Given the description of an element on the screen output the (x, y) to click on. 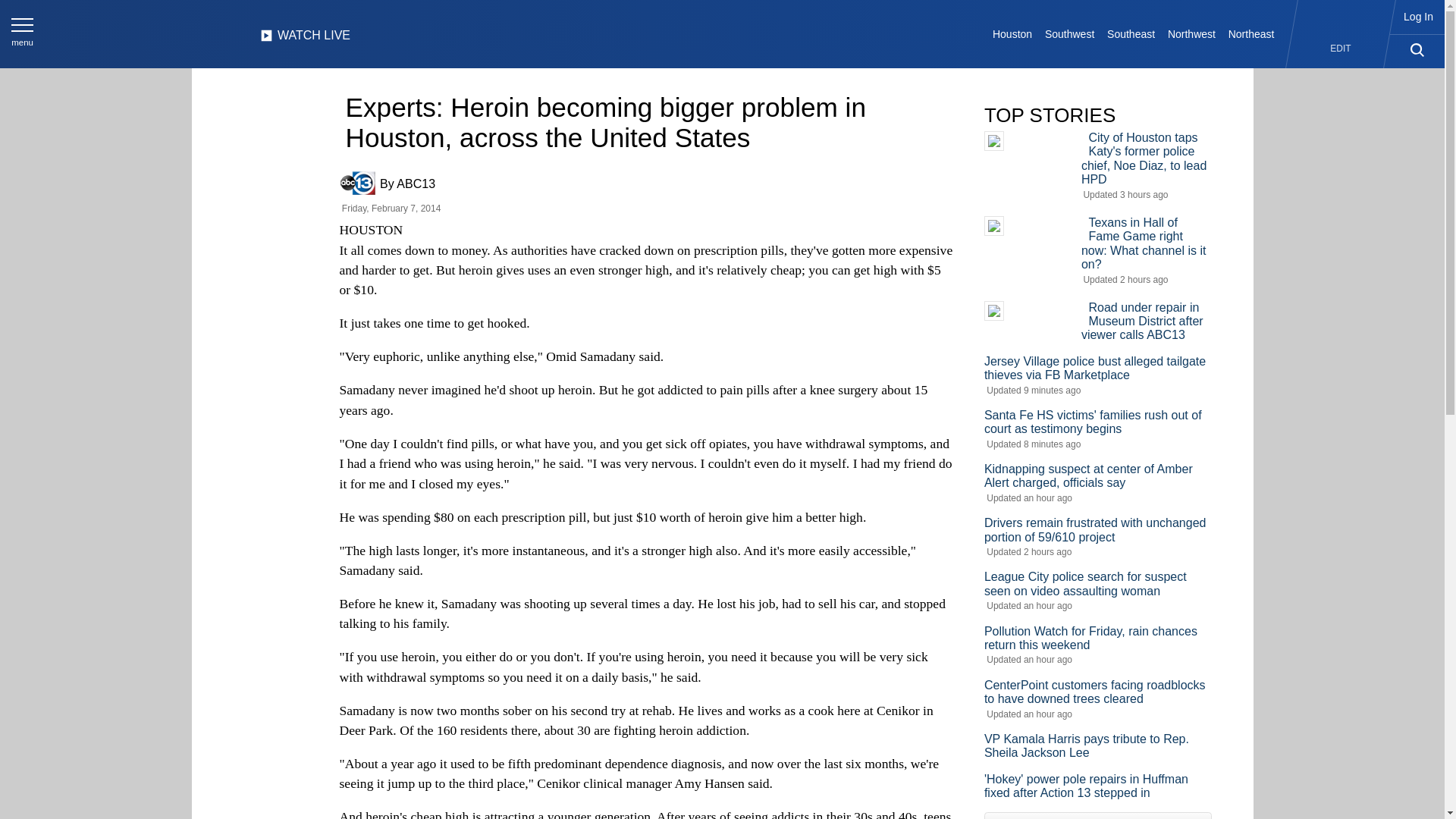
Southwest (1069, 33)
Southeast (1130, 33)
Northwest (1192, 33)
Northeast (1250, 33)
WATCH LIVE (305, 39)
EDIT (1340, 48)
Houston (1013, 33)
